Given the description of an element on the screen output the (x, y) to click on. 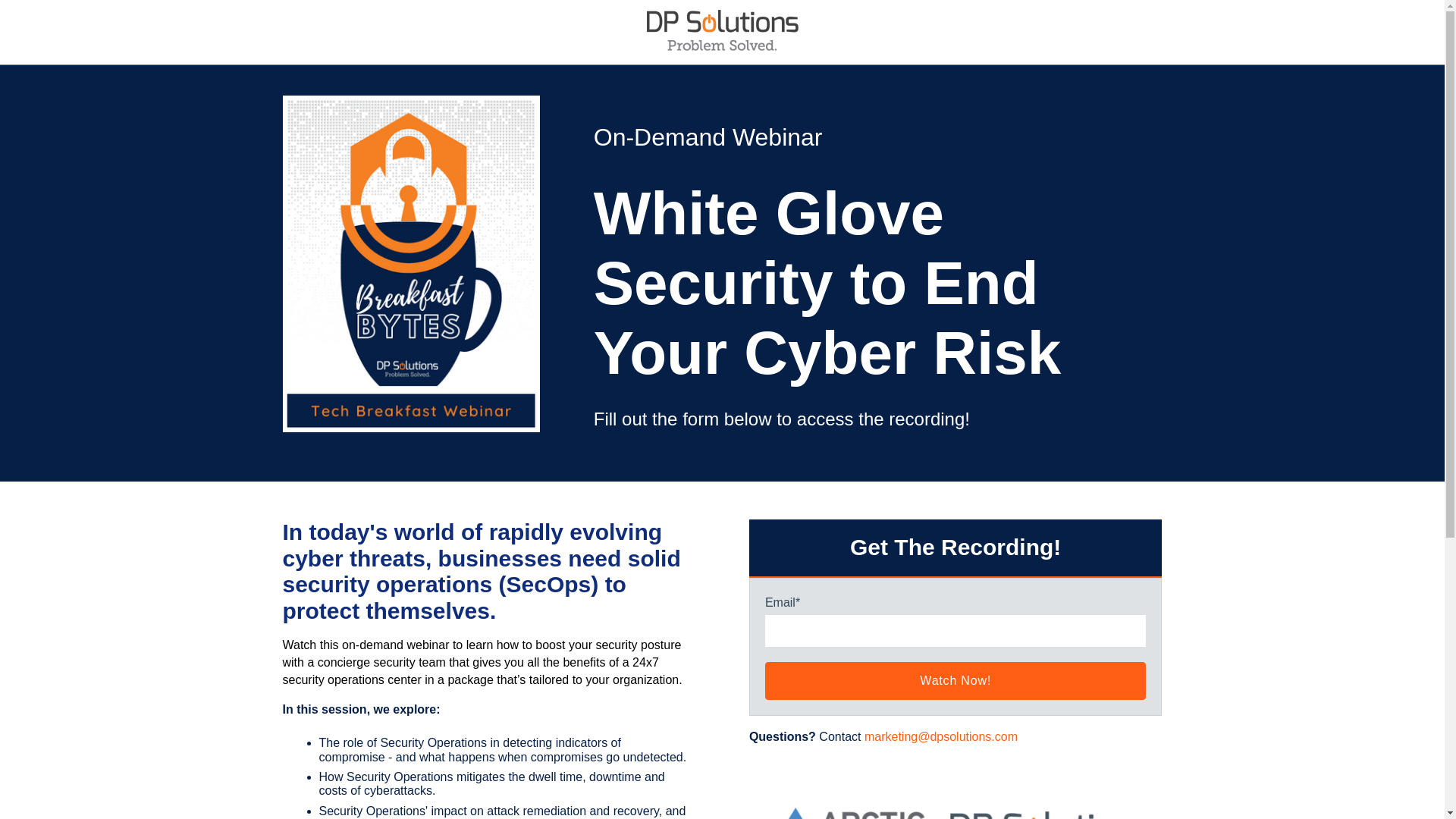
Watch Now! (956, 680)
Watch Now! (956, 680)
Arctic Wolf DP Solutions (955, 788)
